Given the description of an element on the screen output the (x, y) to click on. 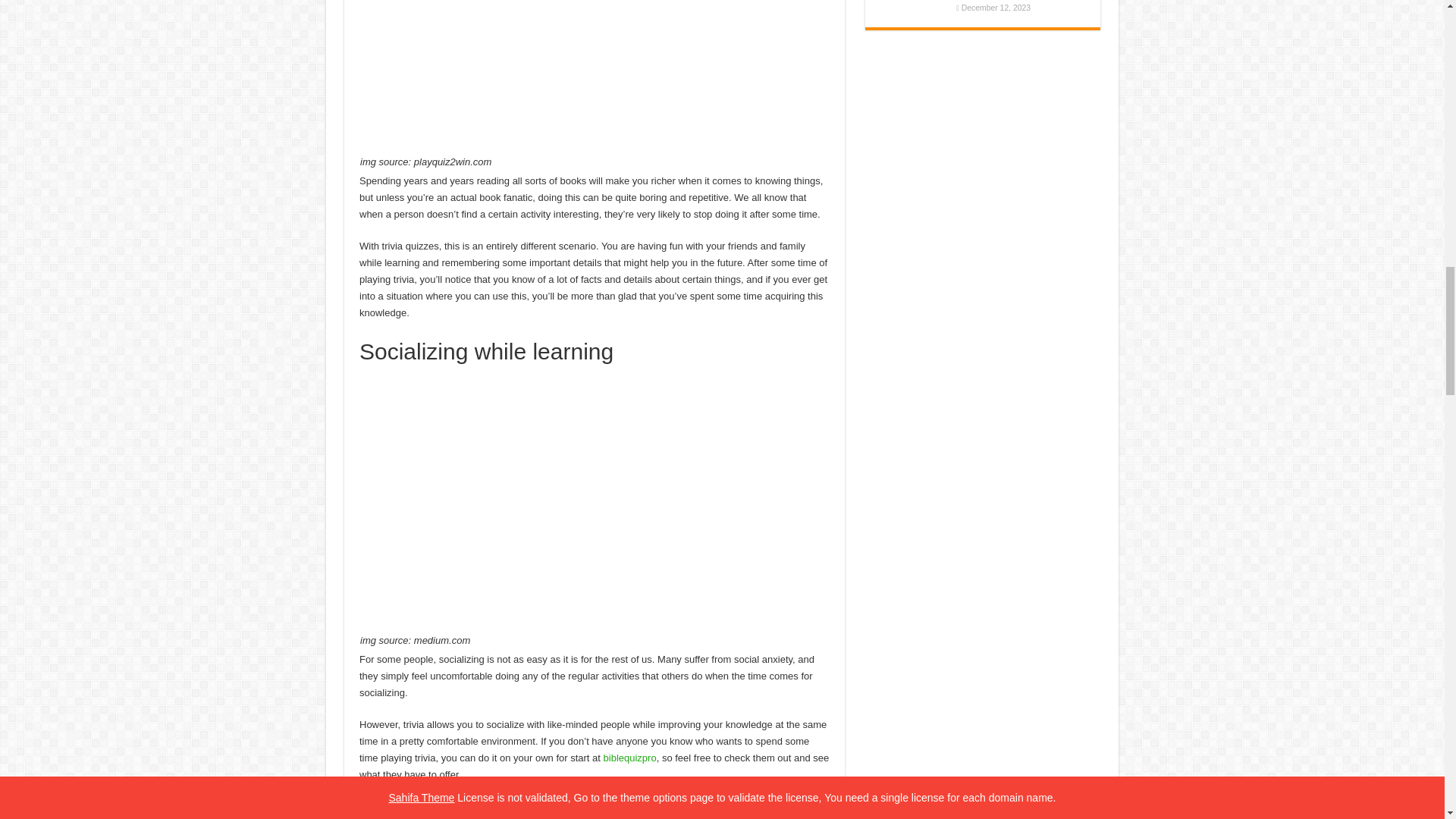
biblequizpro (630, 757)
